Given the description of an element on the screen output the (x, y) to click on. 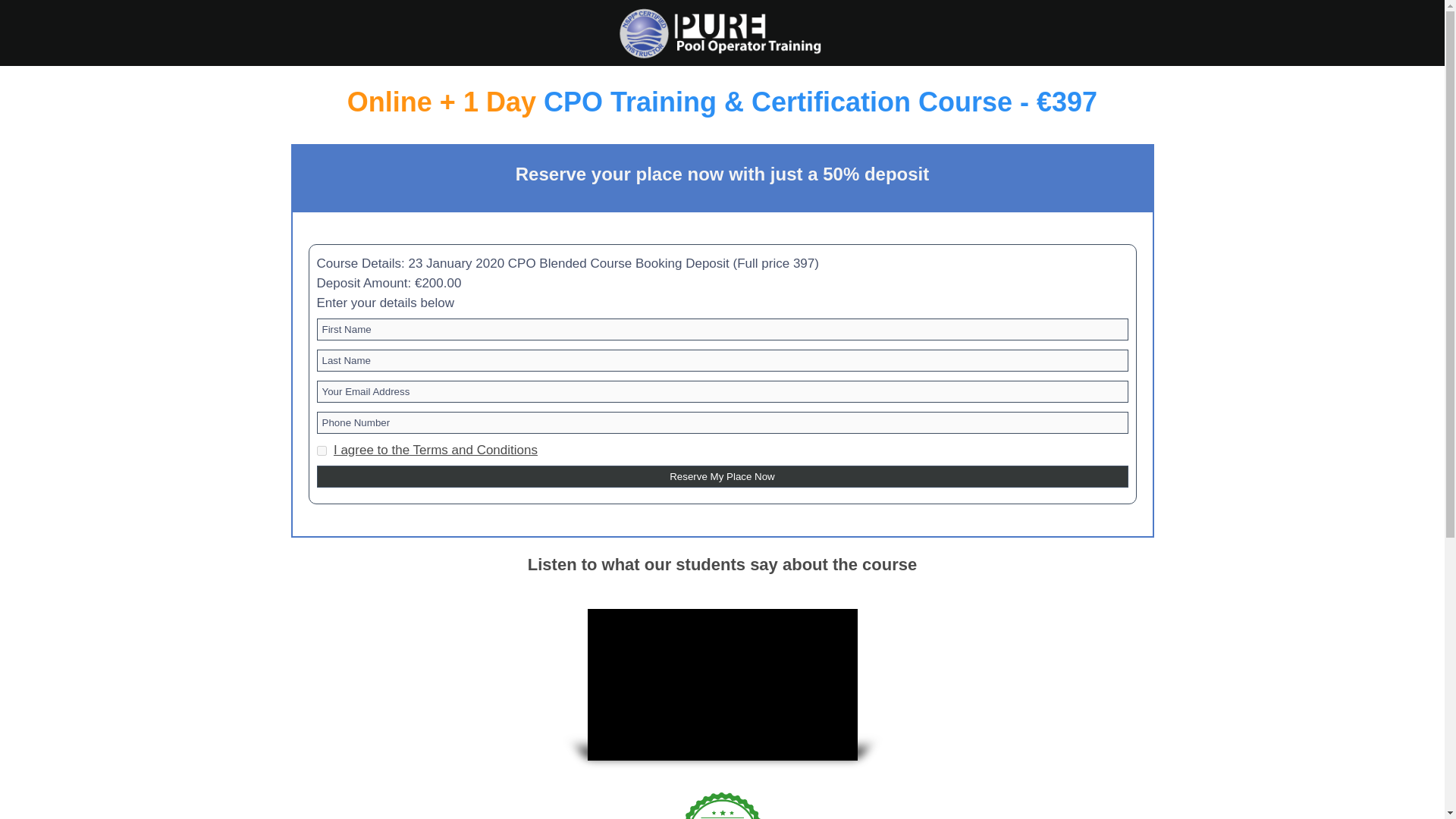
First Name (722, 329)
Reserve My Place Now (722, 476)
Phone Number (722, 422)
Last Name (722, 360)
Reserve My Place Now (722, 476)
I agree to the Terms and Conditions (435, 450)
Your Email Address (722, 391)
checked (321, 450)
